Given the description of an element on the screen output the (x, y) to click on. 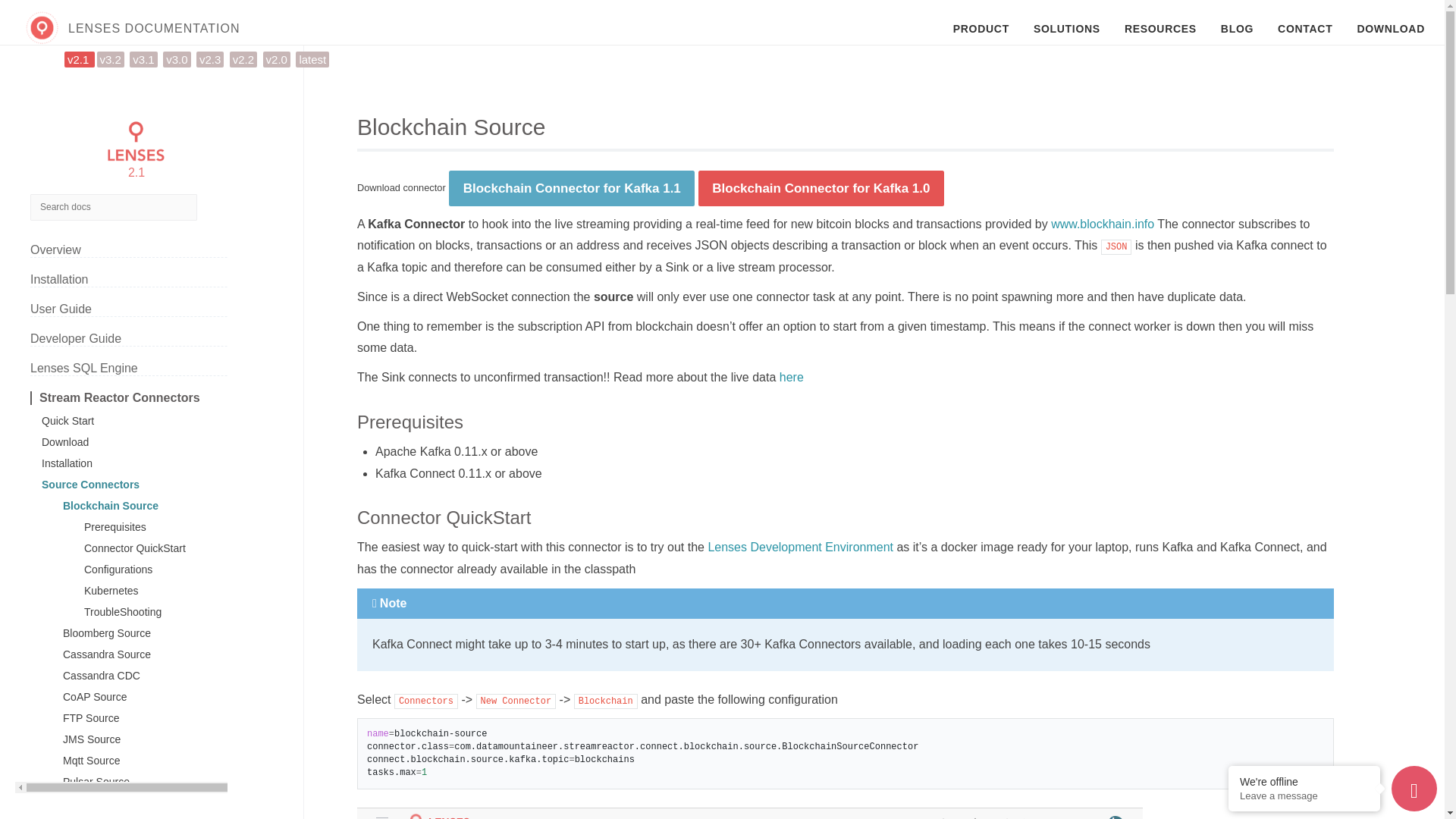
CoAP Source (167, 696)
ReThink Source (167, 802)
Configurations (178, 569)
Cassandra CDC (167, 675)
PRODUCT (981, 28)
Blockchain Source (167, 505)
Stream Reactor Connectors (151, 397)
TroubleShooting (178, 611)
Quick Start (157, 420)
Leave a message (1304, 795)
